Given the description of an element on the screen output the (x, y) to click on. 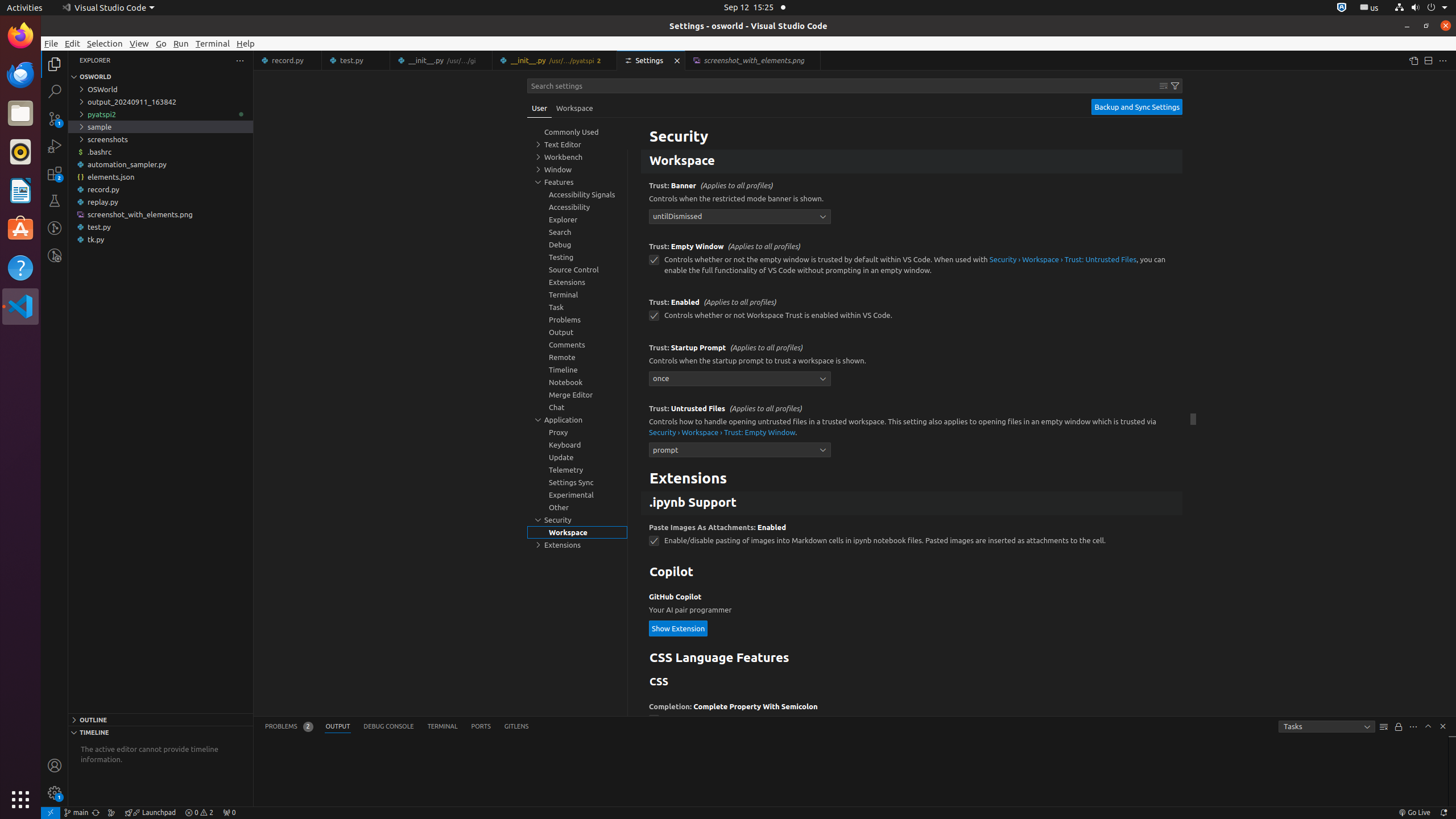
Explorer Section: osworld Element type: push-button (160, 76)
Security › Workspace › Trust: Untrusted Files Element type: link (1062, 259)
OSWorld Element type: tree-item (160, 89)
CSS Language Features Element type: tree-item (911, 658)
Chat, group Element type: tree-item (577, 406)
